Given the description of an element on the screen output the (x, y) to click on. 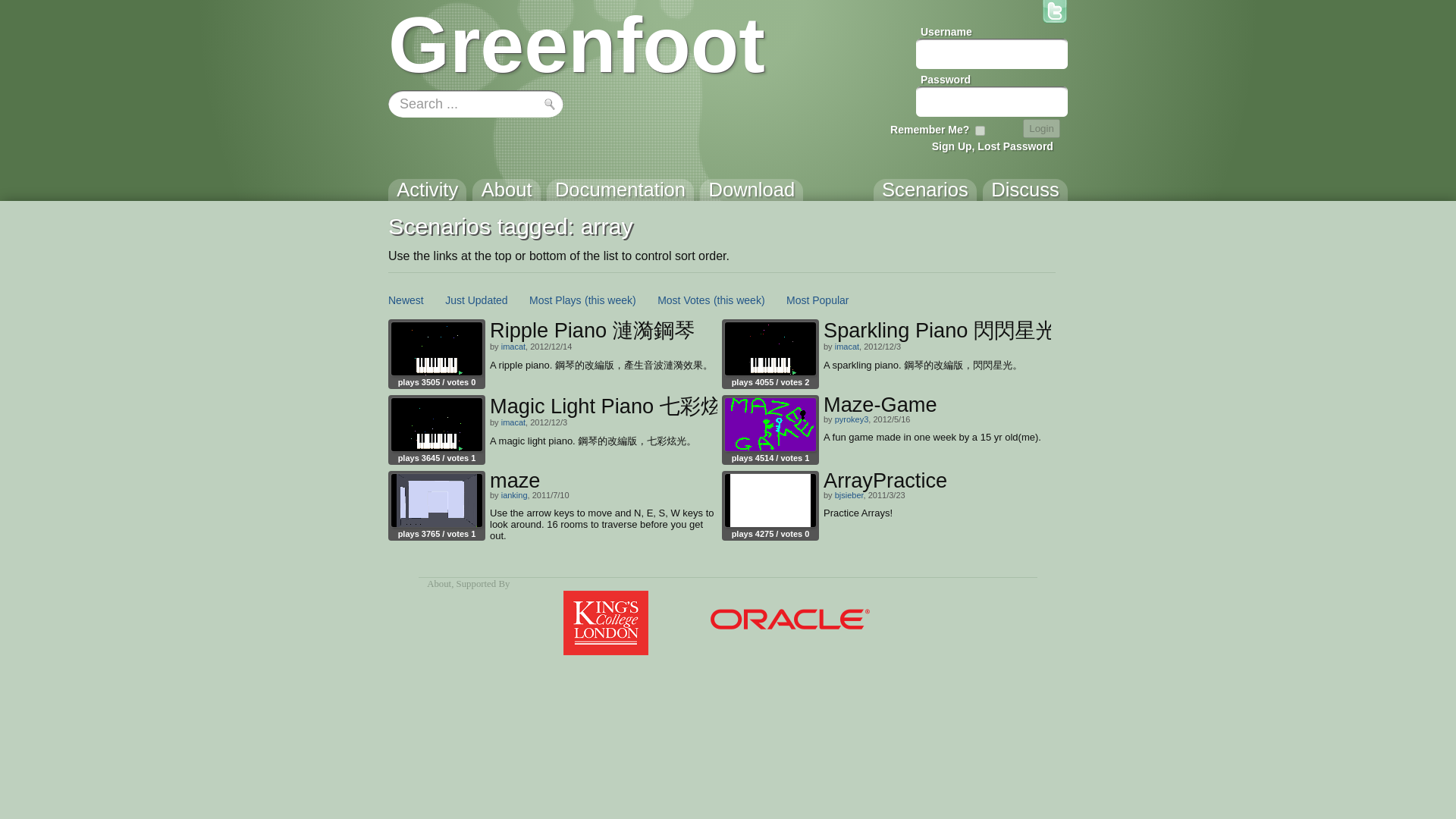
Search ... (477, 103)
Discuss (1024, 195)
Documentation (620, 195)
imacat (846, 346)
Login (1041, 128)
Sign Up, Lost Password (991, 146)
by imacat (436, 424)
imacat (512, 421)
Most Votes (684, 300)
imacat (512, 346)
